Given the description of an element on the screen output the (x, y) to click on. 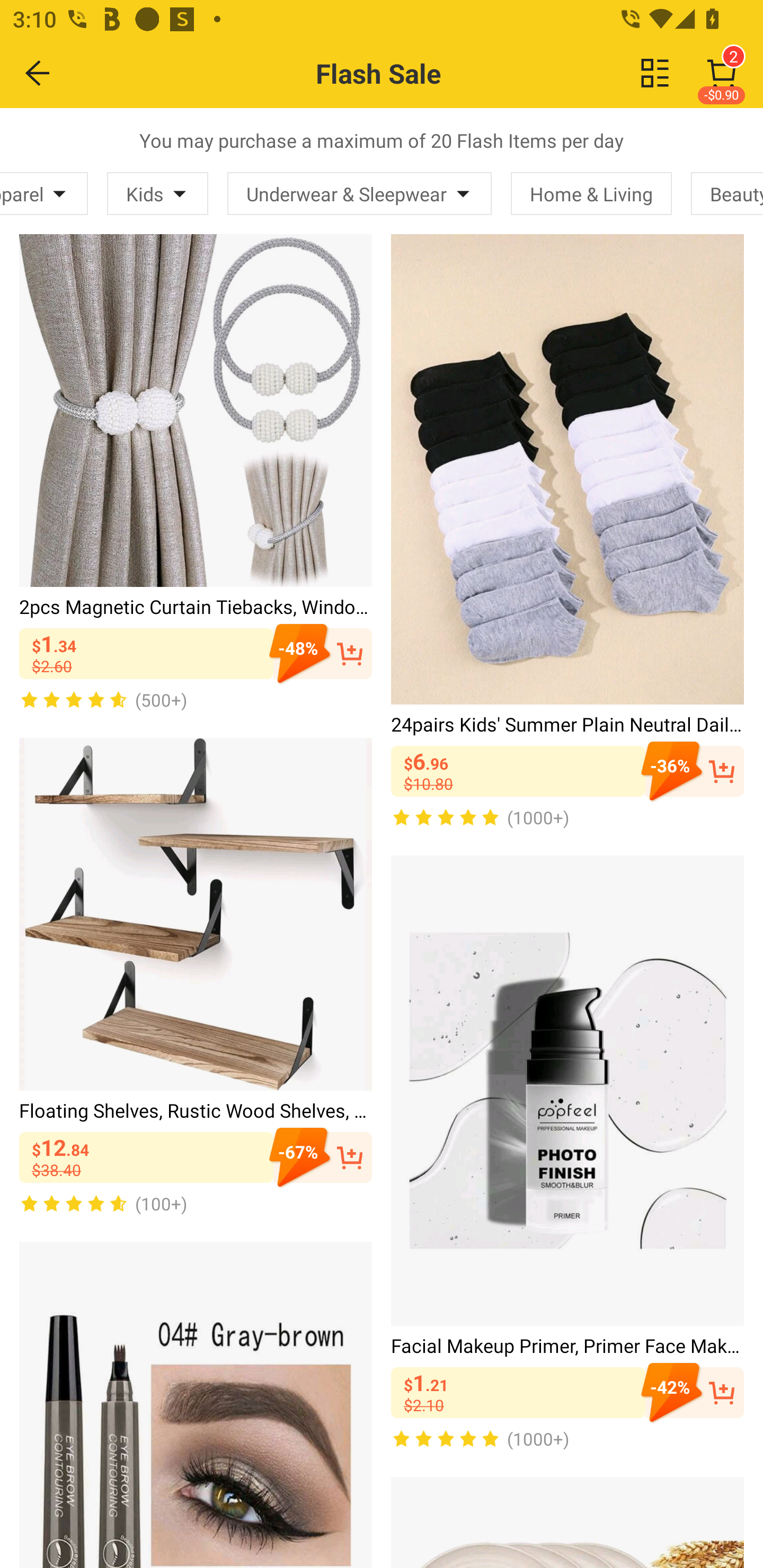
Flash Sale change view 2 -$0.90 (419, 72)
2 -$0.90 (721, 72)
change view (654, 72)
BACK (38, 72)
Men Apparel (43, 193)
Kids (157, 193)
Underwear & Sleepwear (359, 193)
Home & Living (591, 193)
Beauty & Health (727, 193)
